Given the description of an element on the screen output the (x, y) to click on. 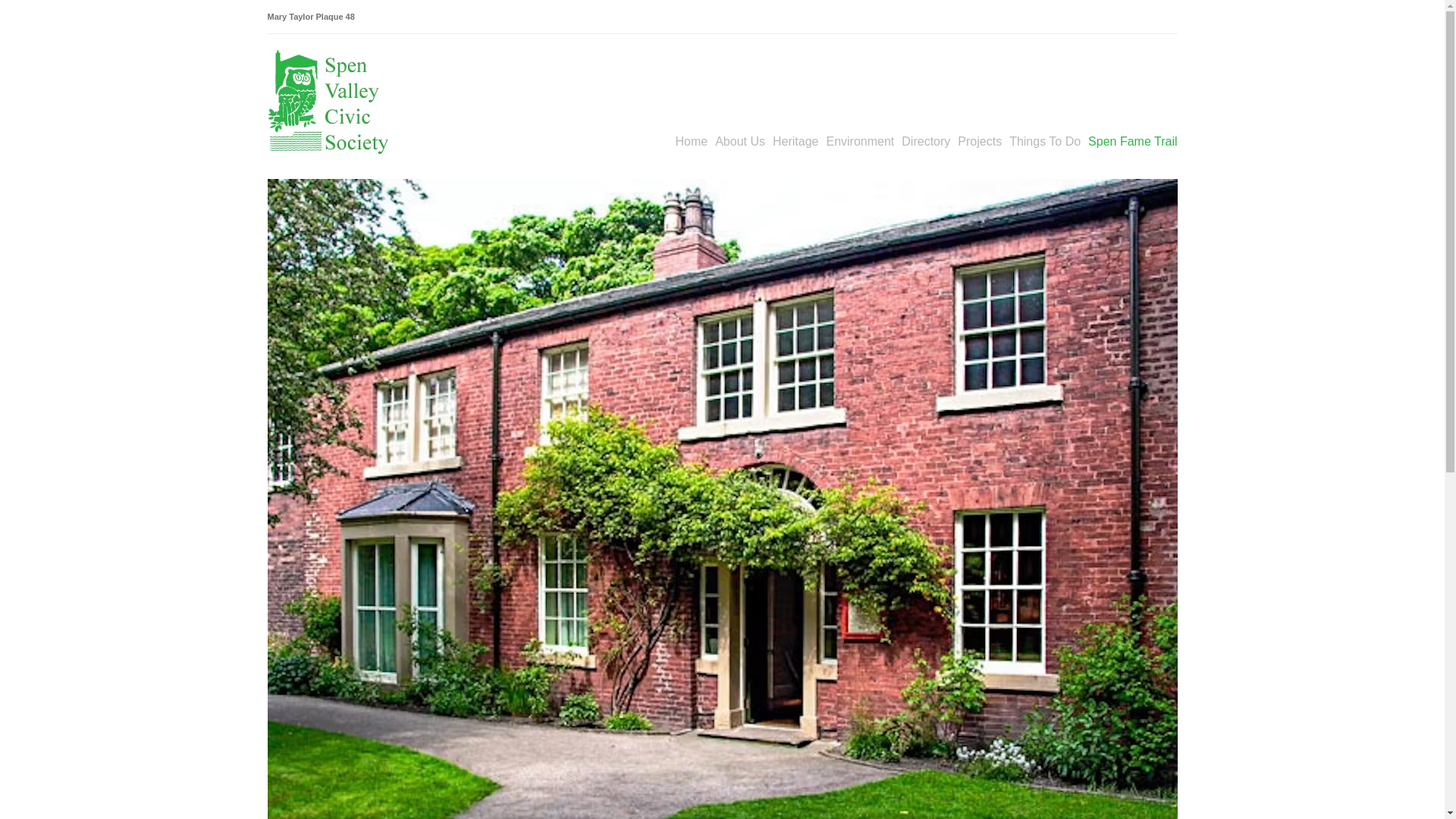
Heritage (795, 141)
About Us (739, 141)
Spen Fame Trail (1131, 141)
Spen Fame Trail (1131, 141)
Projects (979, 141)
Heritage (795, 141)
Things To Do (1044, 141)
About Us (739, 141)
Environment (859, 141)
Directory (925, 141)
Environment (859, 141)
Things To Do (1044, 141)
Home (691, 141)
Home (691, 141)
Projects (979, 141)
